Given the description of an element on the screen output the (x, y) to click on. 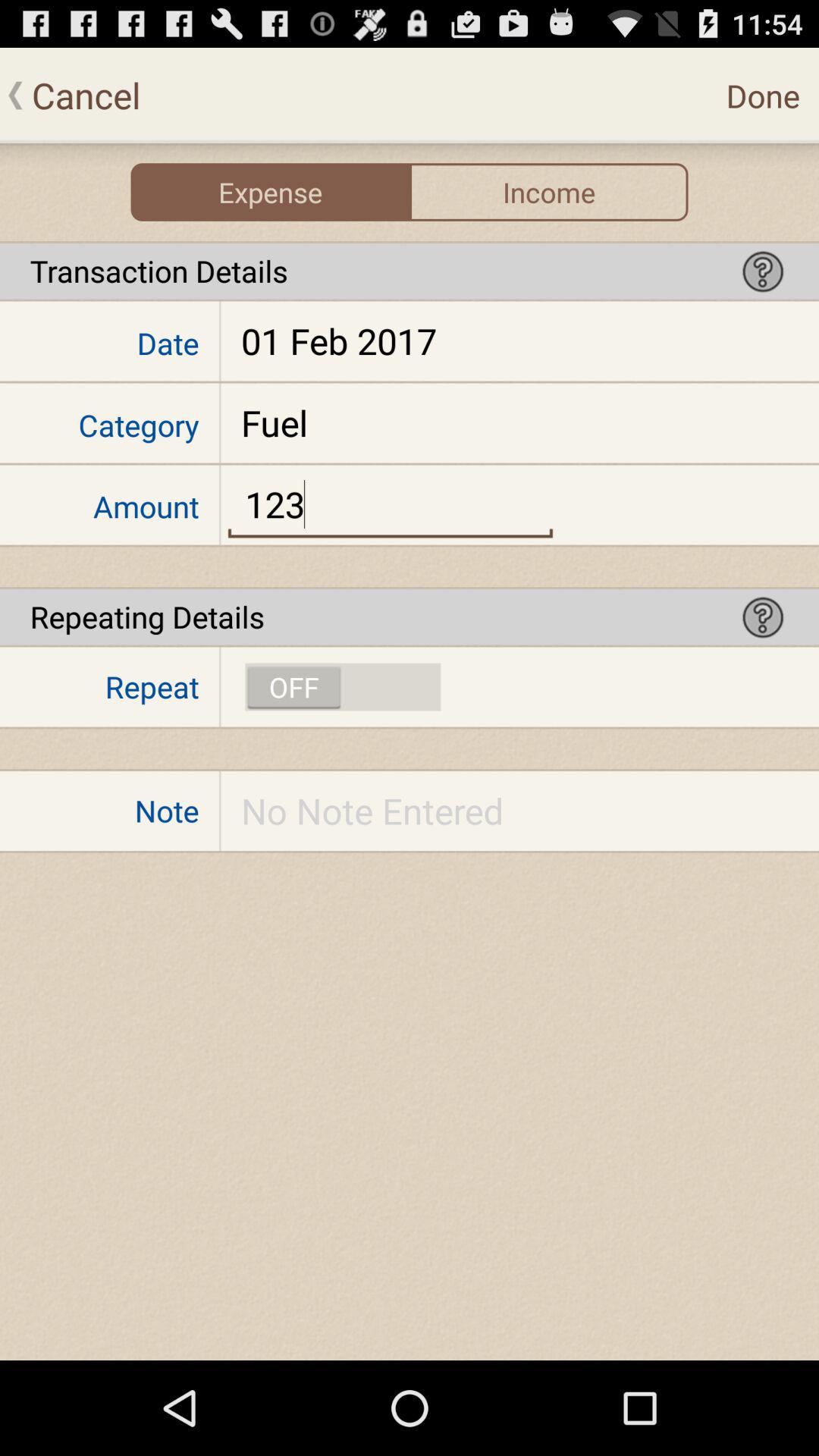
go to section help (762, 616)
